Given the description of an element on the screen output the (x, y) to click on. 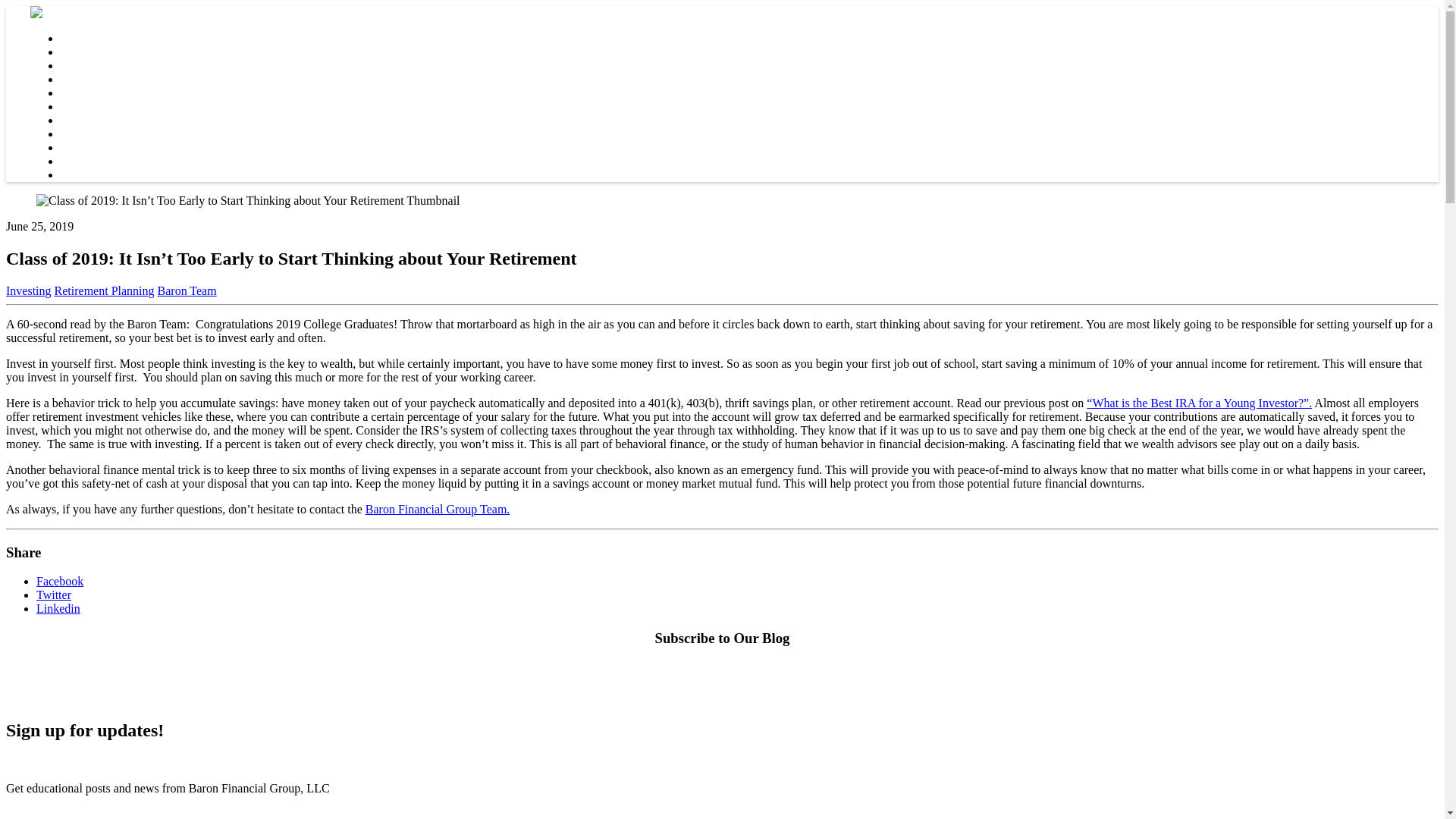
Retirement Planning (104, 290)
Linkedin (58, 608)
Services (81, 78)
Form CRS (87, 160)
Investing (27, 290)
Blog (72, 106)
FAQ (72, 133)
The Team (85, 51)
Twitter (53, 594)
Baron Financial Group Team. (438, 508)
About (75, 38)
Client Login (91, 146)
Who We Help (95, 65)
Baron Team (186, 290)
Contact (80, 119)
